Given the description of an element on the screen output the (x, y) to click on. 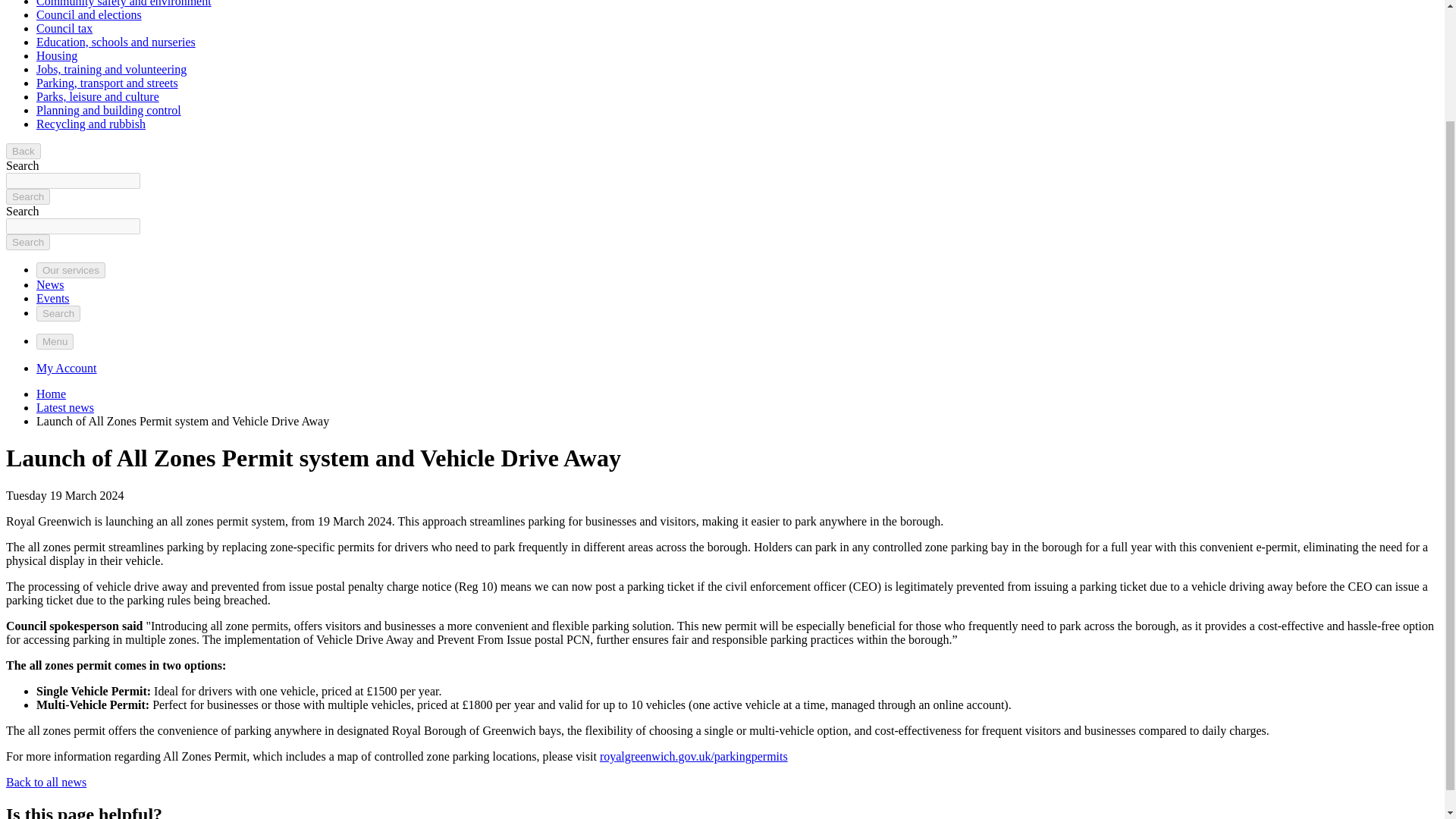
Back (22, 150)
Our services (70, 270)
Housing (56, 55)
Education, schools and nurseries (115, 42)
Council and elections (88, 14)
Back to all news (45, 781)
Search (27, 242)
Council tax (64, 28)
Jobs, training and volunteering (111, 69)
Community safety and environment (123, 3)
Search (27, 196)
Events (52, 297)
Recycling and rubbish (90, 123)
Menu (55, 341)
My Account (66, 367)
